Given the description of an element on the screen output the (x, y) to click on. 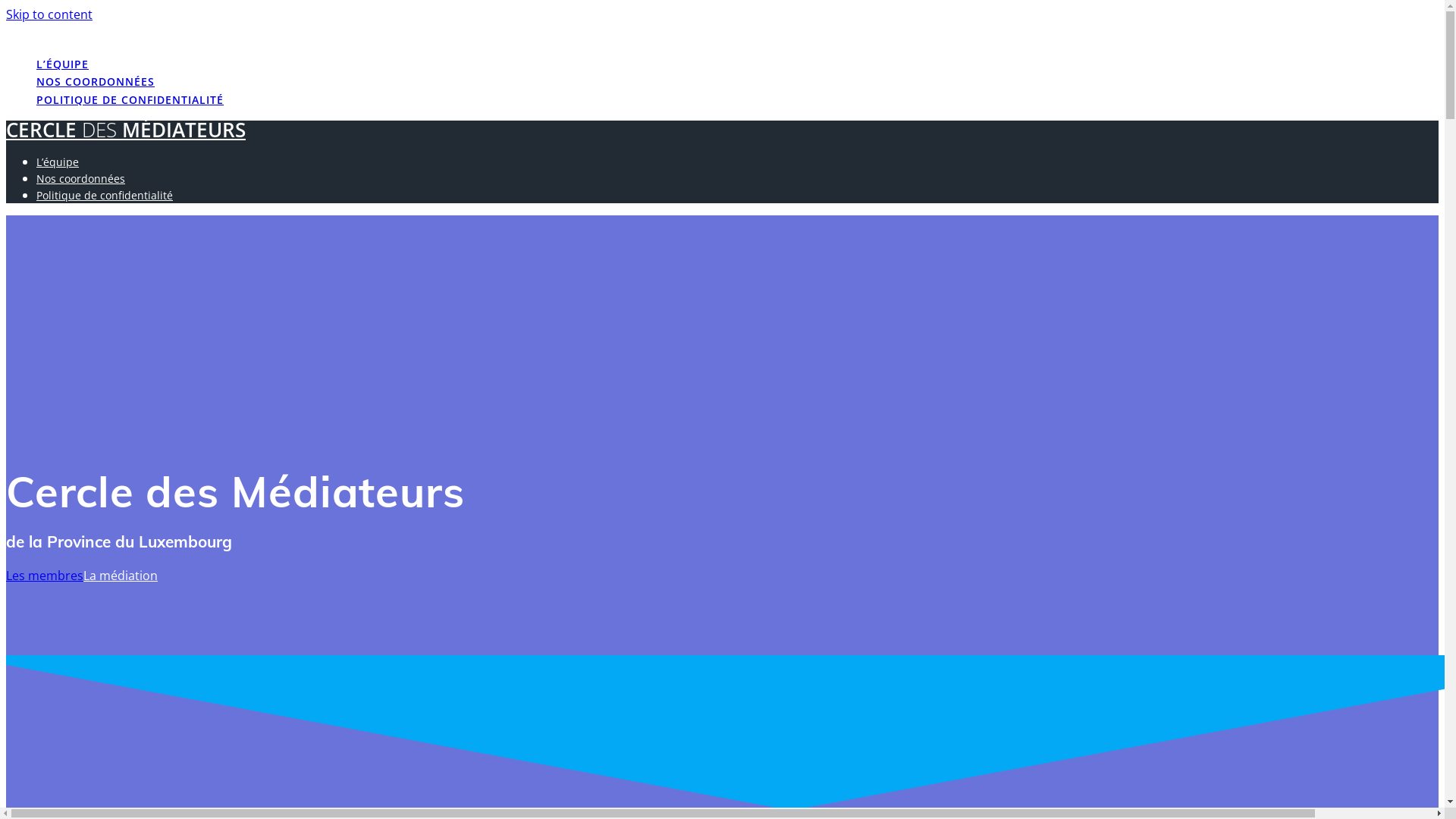
Les membres Element type: text (44, 575)
Skip to content Element type: text (49, 14)
